Given the description of an element on the screen output the (x, y) to click on. 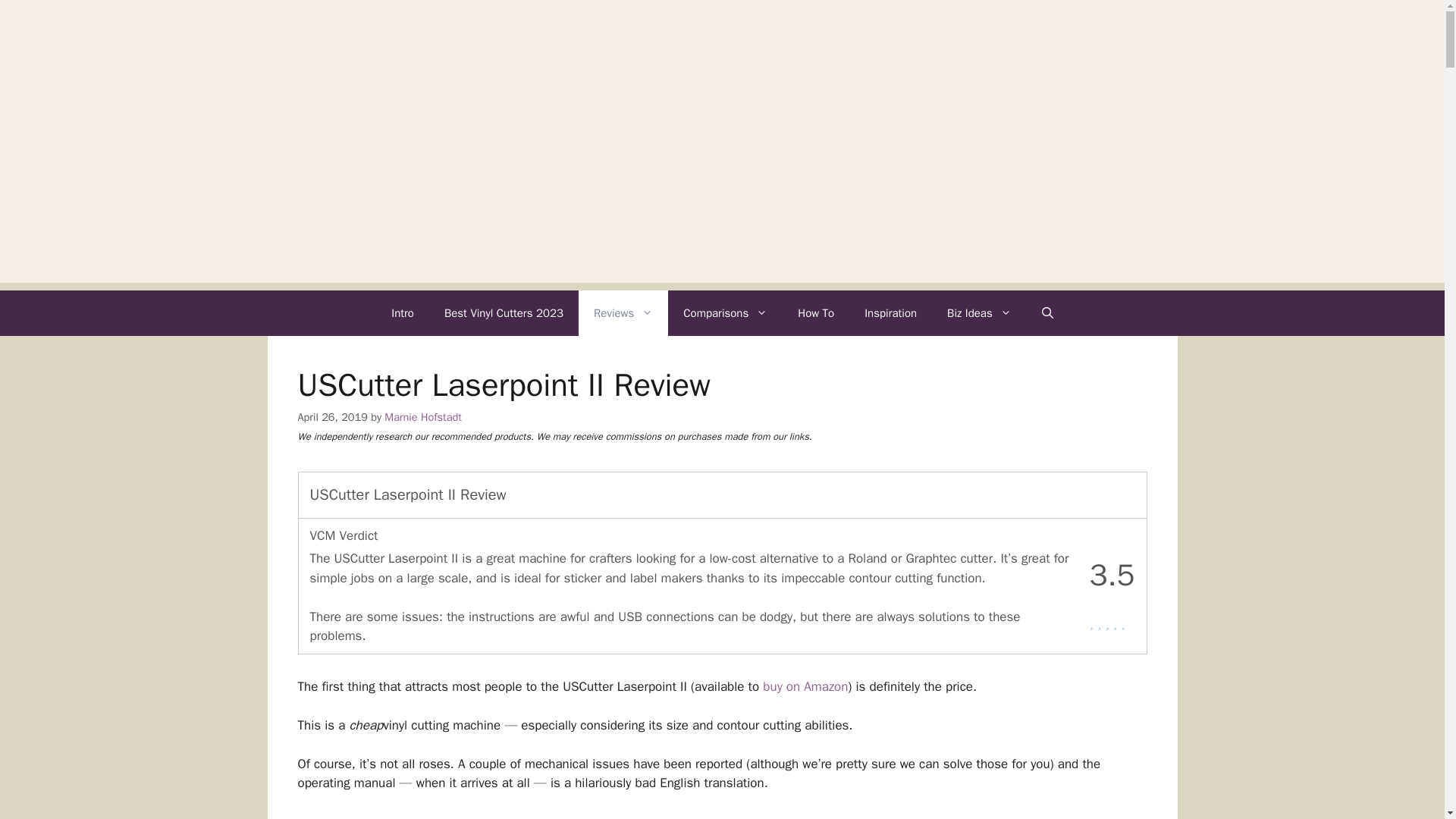
Vinyl Cutting Machines (722, 31)
Best Vinyl Cutters 2023 (503, 312)
Inspiration (889, 312)
Marnie Hofstadt (422, 417)
Intro (402, 312)
How To (815, 312)
buy on Amazon (804, 686)
View all posts by Marnie Hofstadt (422, 417)
Comparisons (725, 312)
Reviews (623, 312)
